Given the description of an element on the screen output the (x, y) to click on. 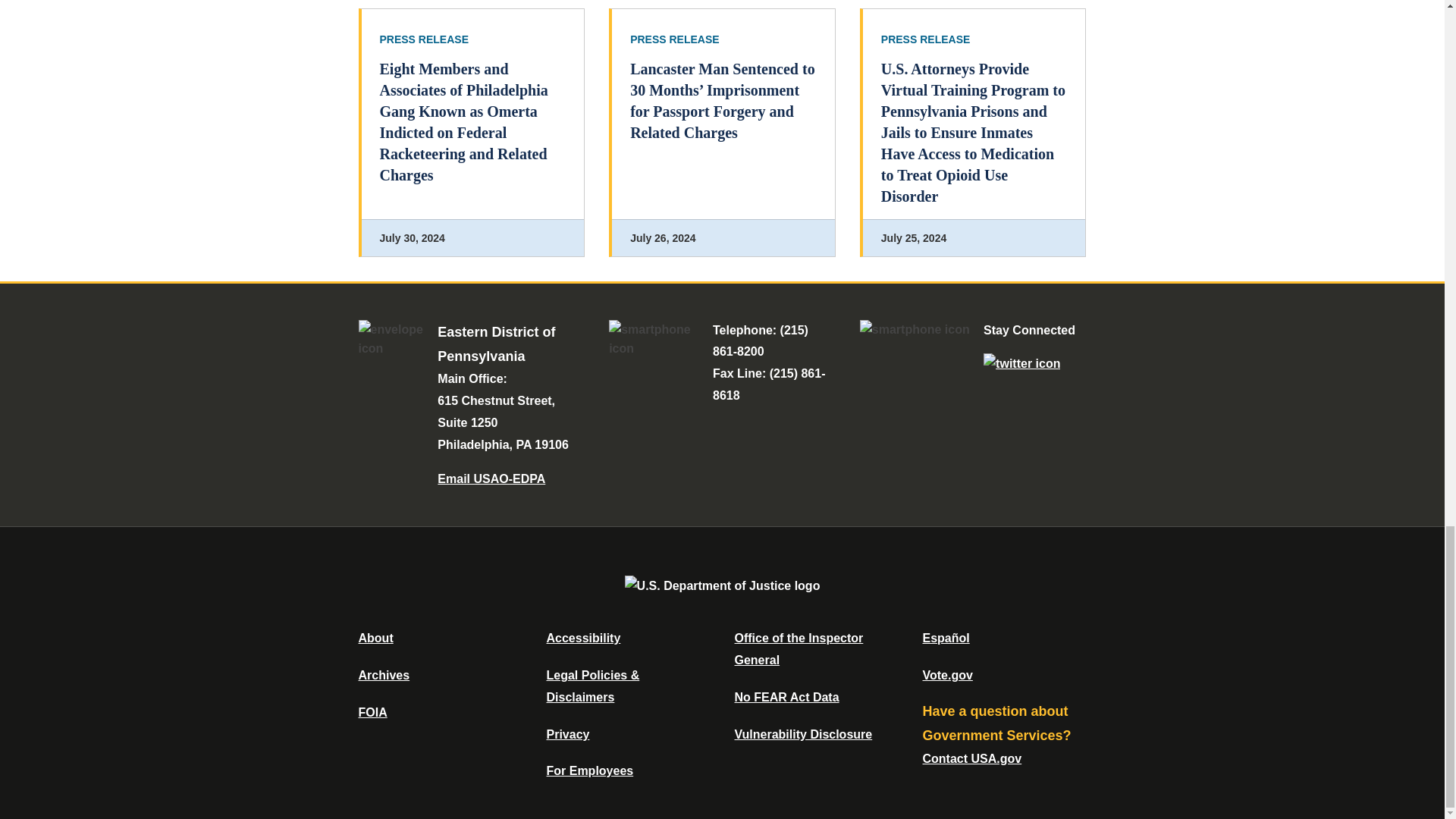
Accessibility Statement (583, 637)
Legal Policies and Disclaimers (592, 686)
About DOJ (375, 637)
Data Posted Pursuant To The No Fear Act (785, 697)
Department of Justice Archive (383, 675)
Office of Information Policy (372, 712)
For Employees (589, 770)
